Given the description of an element on the screen output the (x, y) to click on. 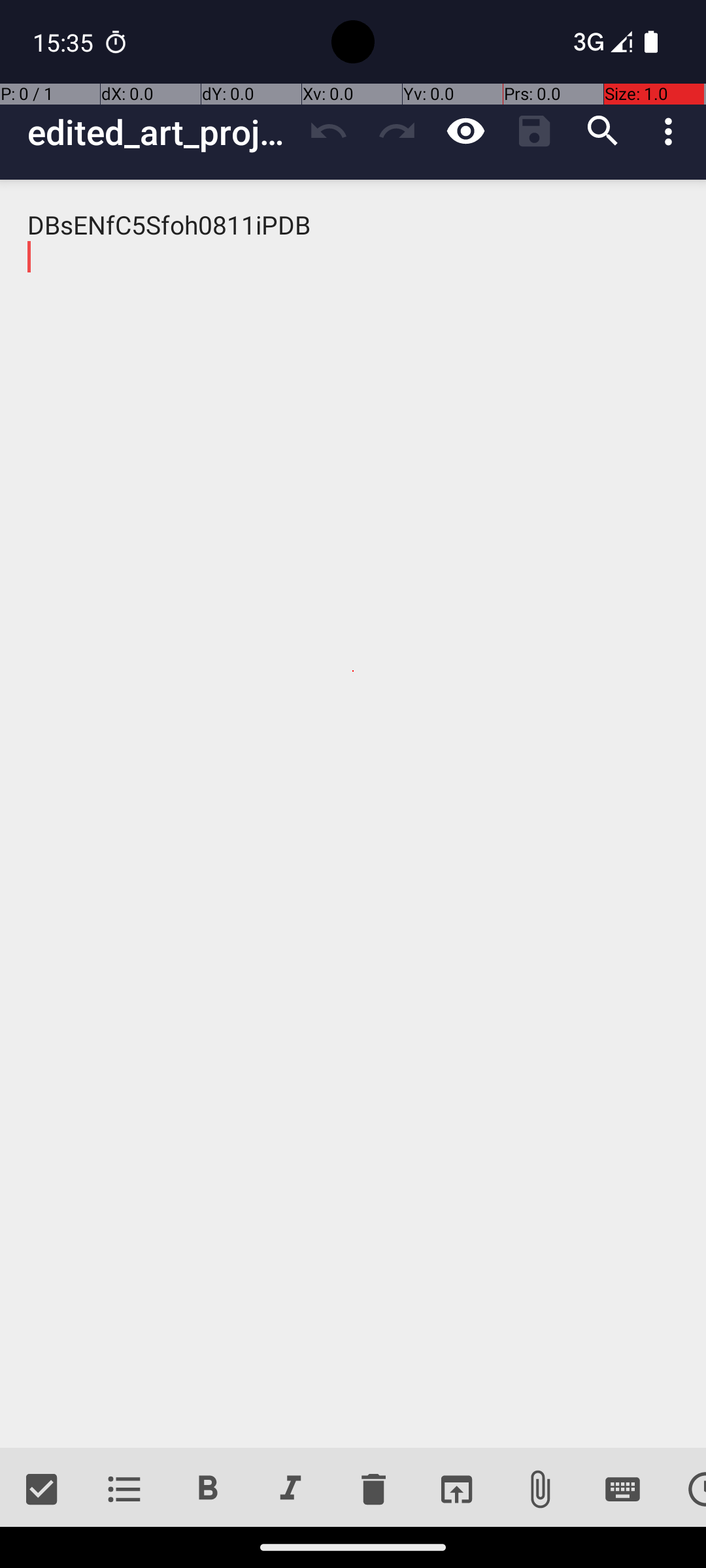
edited_art_project_sketches Element type: android.widget.TextView (160, 131)
DBsENfC5Sfoh0811iPDB
 Element type: android.widget.EditText (353, 813)
